Given the description of an element on the screen output the (x, y) to click on. 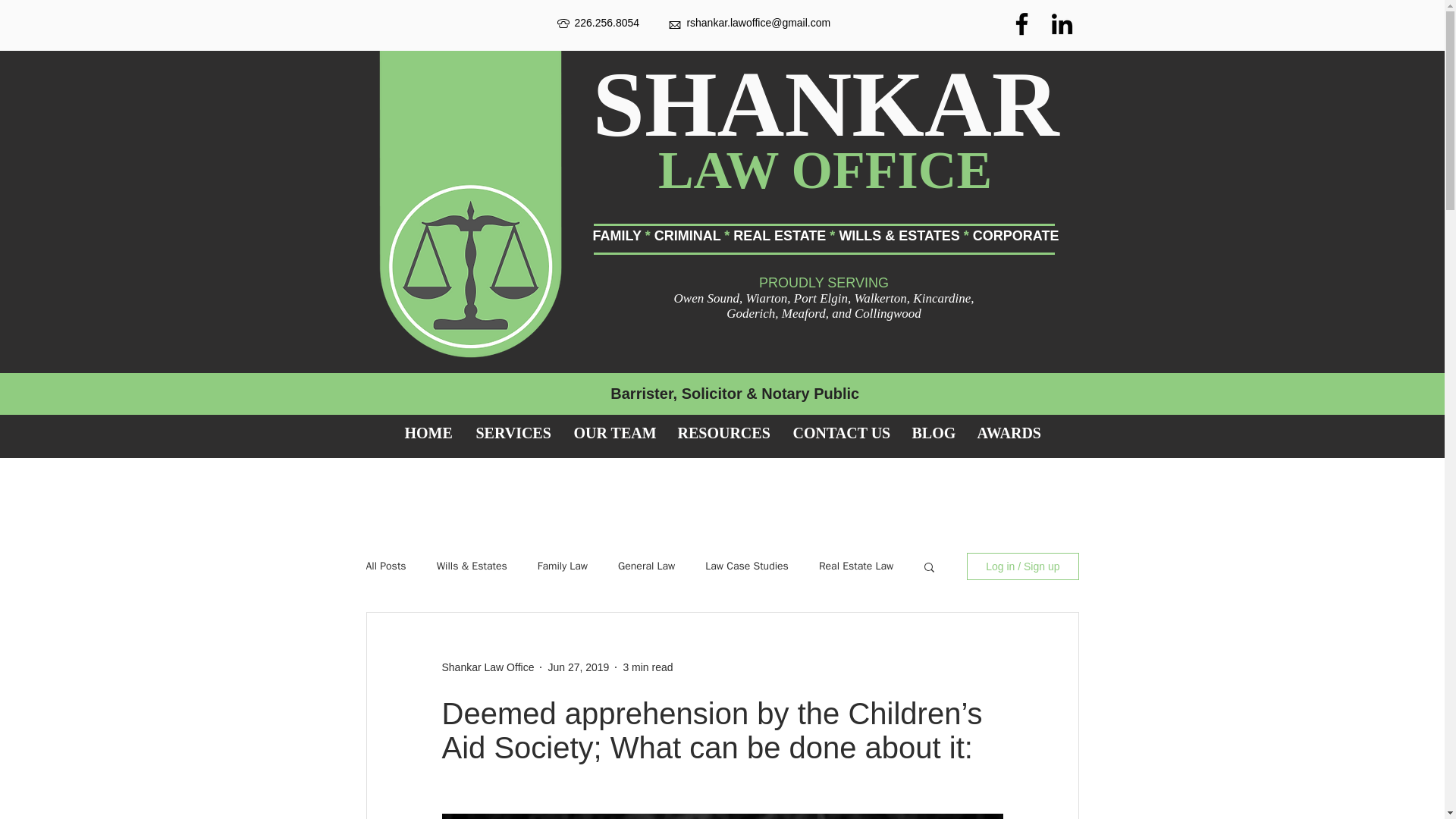
PROUDLY SERVING (823, 282)
OUR TEAM (614, 432)
General Law (646, 566)
All Posts (385, 566)
AWARDS (1009, 432)
Law Case Studies (746, 566)
Shankar Law Office (487, 667)
Jun 27, 2019 (577, 666)
Family Law (562, 566)
Owen Sound, Wiarton, Port Elgin, Walkerton, Kincardine, (824, 298)
Goderich, Meaford, and Collingwood (823, 313)
CONTACT US (839, 432)
3 min read (647, 666)
SERVICES (513, 432)
226.256.8054                 (631, 22)
